Given the description of an element on the screen output the (x, y) to click on. 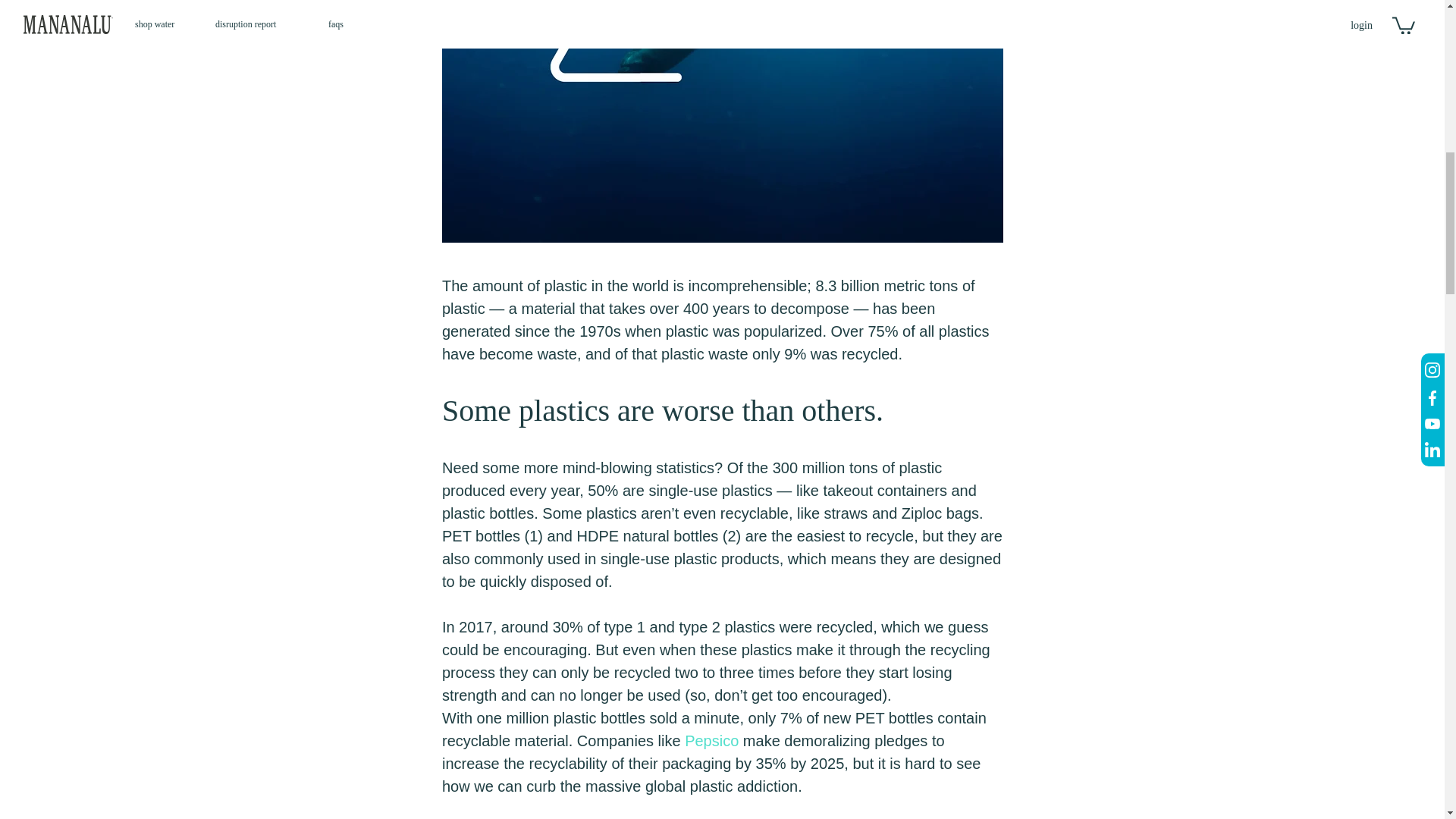
Pepsico (711, 740)
